Given the description of an element on the screen output the (x, y) to click on. 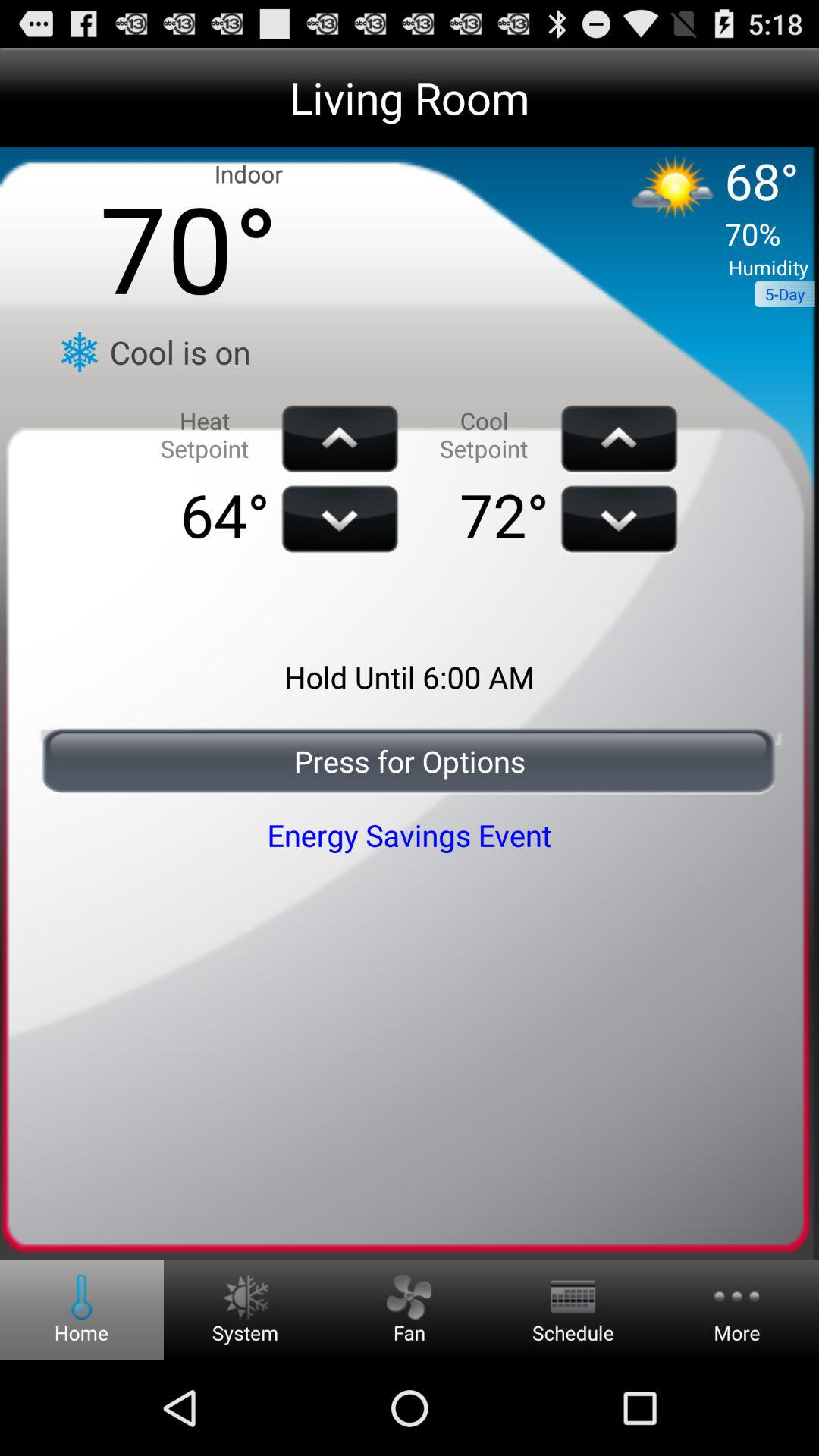
select the schedule option (573, 1309)
click the down scroll which is right of 64 degree (339, 519)
click the button next to the heat setpoint (339, 439)
